Given the description of an element on the screen output the (x, y) to click on. 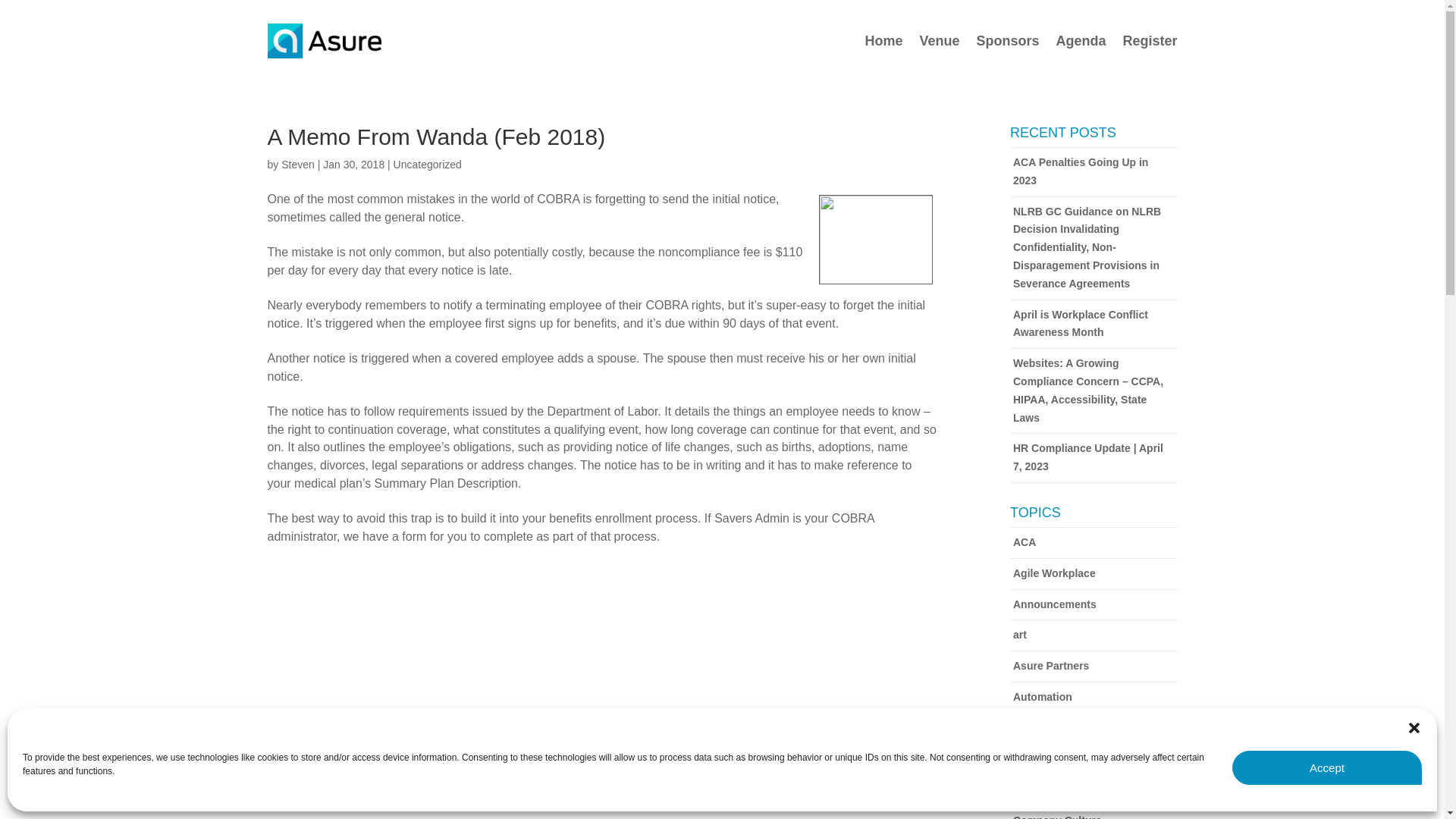
Posts by Steven (297, 164)
Announcements (1093, 604)
ACA (1093, 542)
Blog (1093, 759)
ACA Penalties Going Up in 2023 (1093, 172)
Asure Partners (1093, 666)
Accept (1326, 767)
Steven (297, 164)
Company Culture (1093, 812)
Sponsors (1007, 40)
Benefits (1093, 728)
April is Workplace Conflict Awareness Month (1093, 324)
Register (1149, 40)
Uncategorized (427, 164)
